Given the description of an element on the screen output the (x, y) to click on. 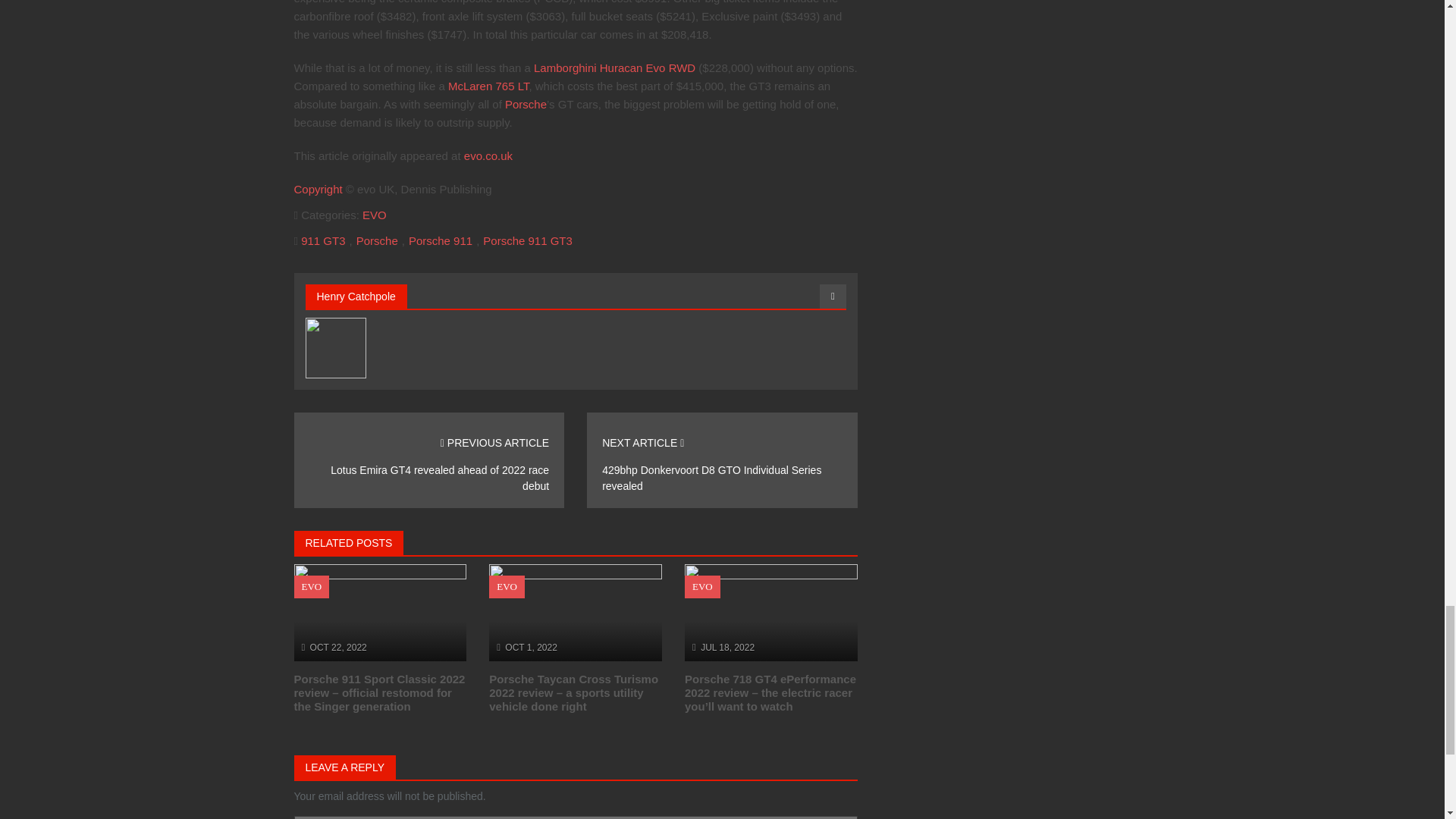
Lamborghini Huracan Evo RWD (614, 67)
evo.co.uk (488, 155)
Henry Catchpole (356, 296)
Porsche 911 (440, 240)
911 GT3 (323, 240)
Porsche 911 GT3 (527, 240)
Porsche (526, 103)
McLaren 765 LT (488, 85)
Copyright (318, 188)
EVO (374, 214)
Porsche (376, 240)
